Given the description of an element on the screen output the (x, y) to click on. 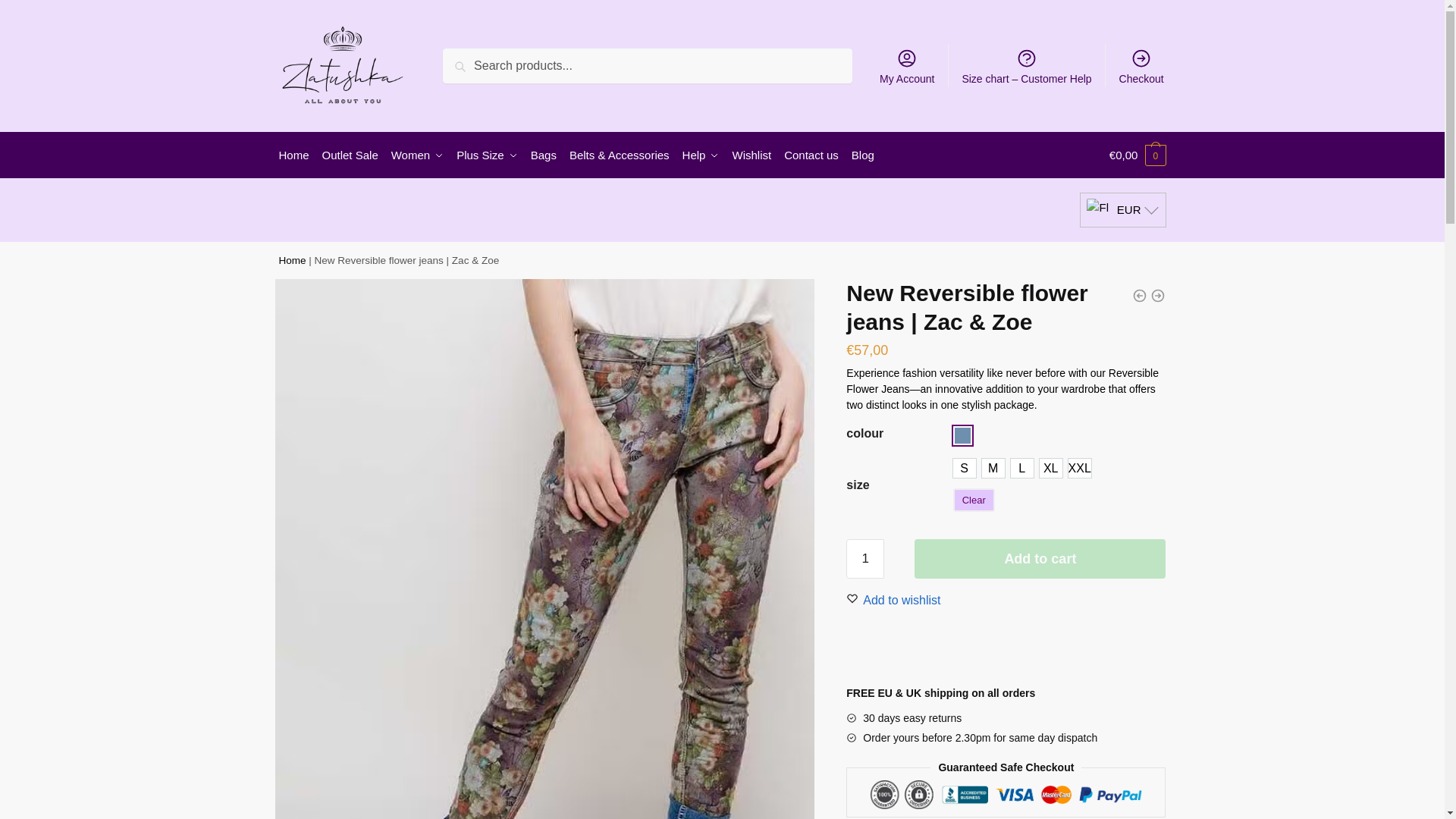
My Account (906, 65)
Help (700, 155)
Women (416, 155)
Checkout (1141, 65)
View your shopping cart (1137, 155)
1 (864, 558)
Outlet Sale (349, 155)
Plus Size (486, 155)
Search (466, 58)
